Given the description of an element on the screen output the (x, y) to click on. 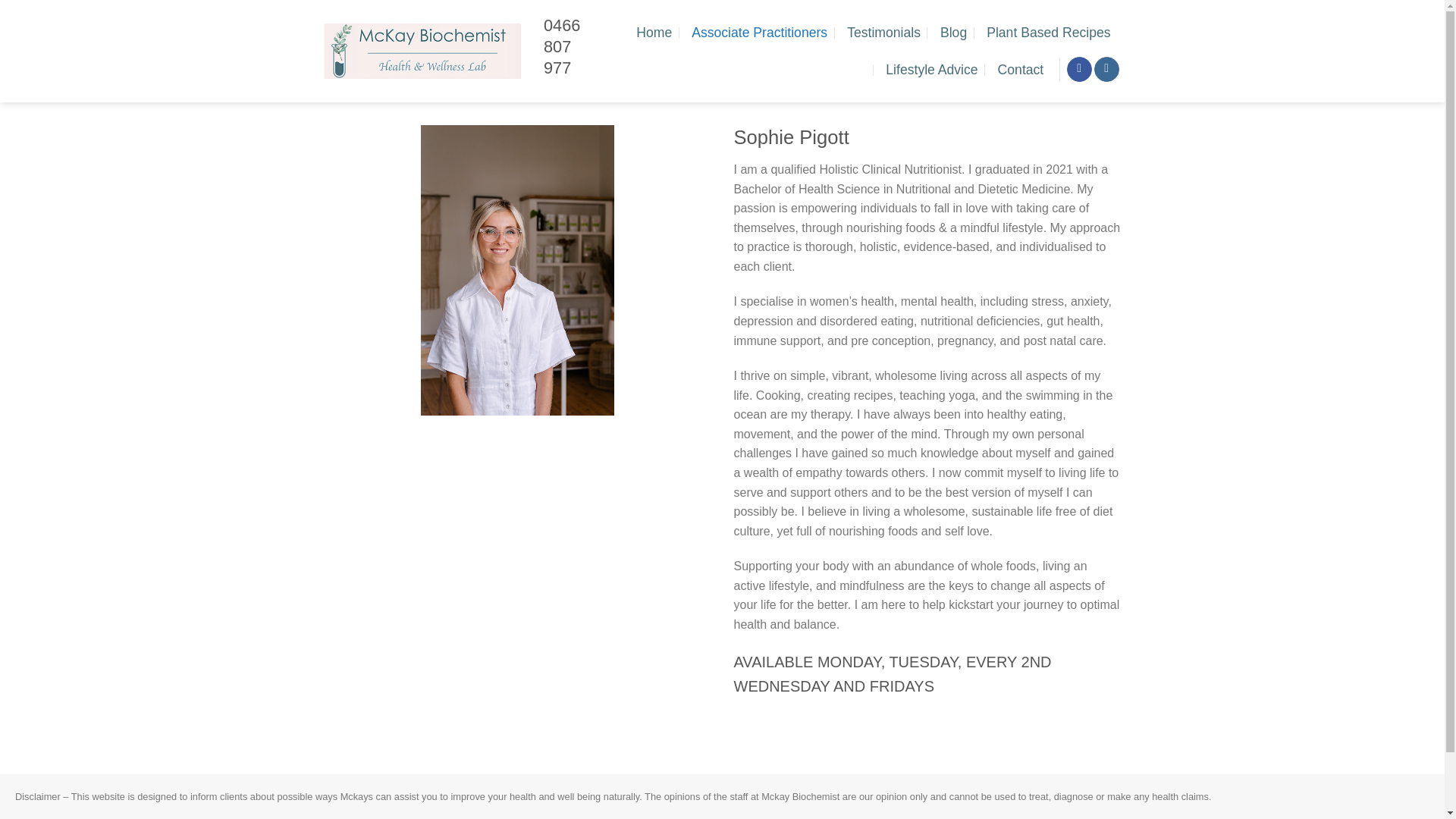
Contact (1020, 69)
Testimonials (883, 32)
Lifestyle Advice (930, 69)
Plant Based Recipes (1048, 32)
Follow on Facebook (1079, 69)
Follow on Instagram (1106, 69)
Home (653, 32)
Associate Practitioners (759, 32)
